Given the description of an element on the screen output the (x, y) to click on. 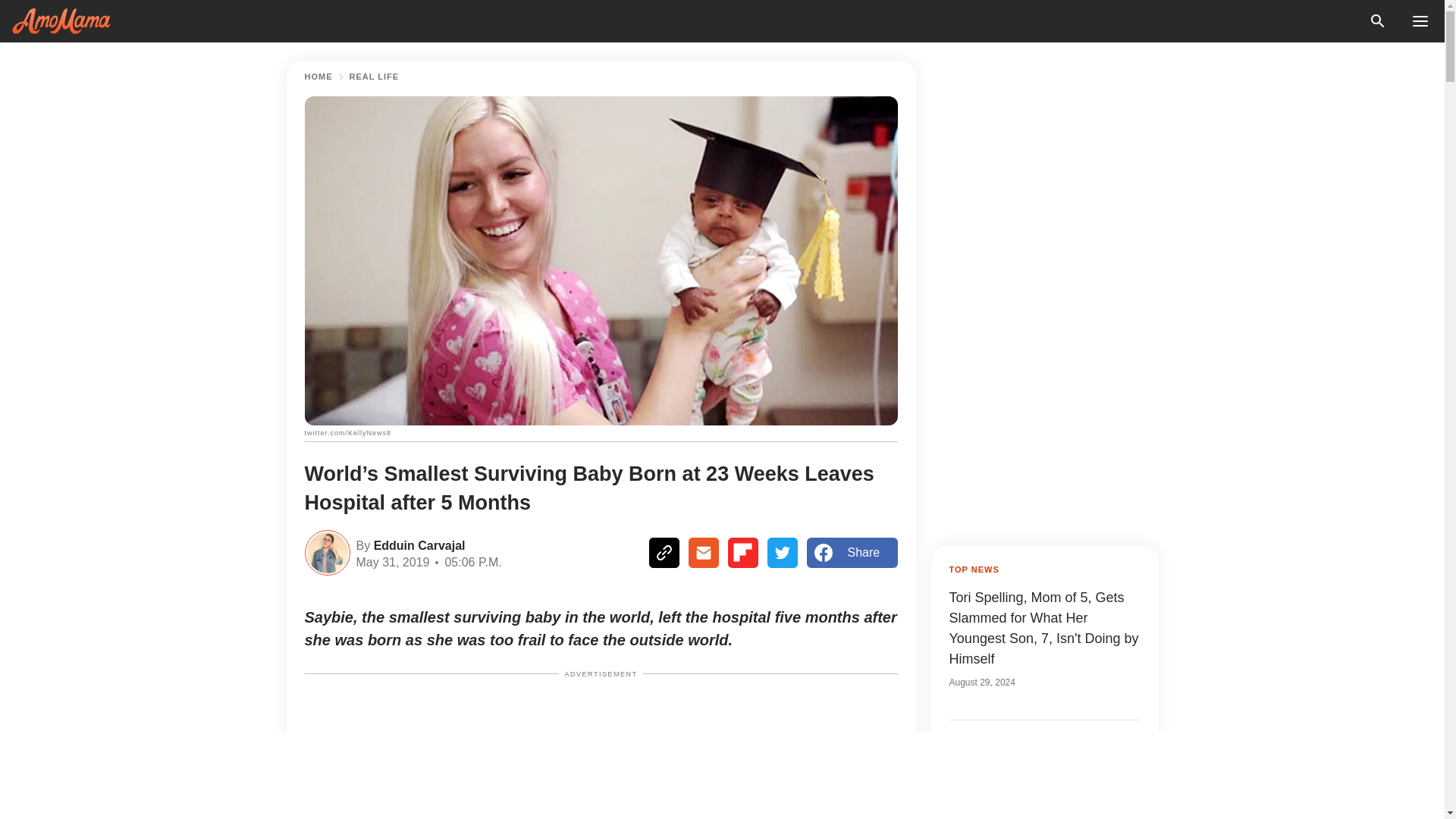
Edduin Carvajal (416, 544)
REAL LIFE (373, 76)
HOME (318, 76)
